Given the description of an element on the screen output the (x, y) to click on. 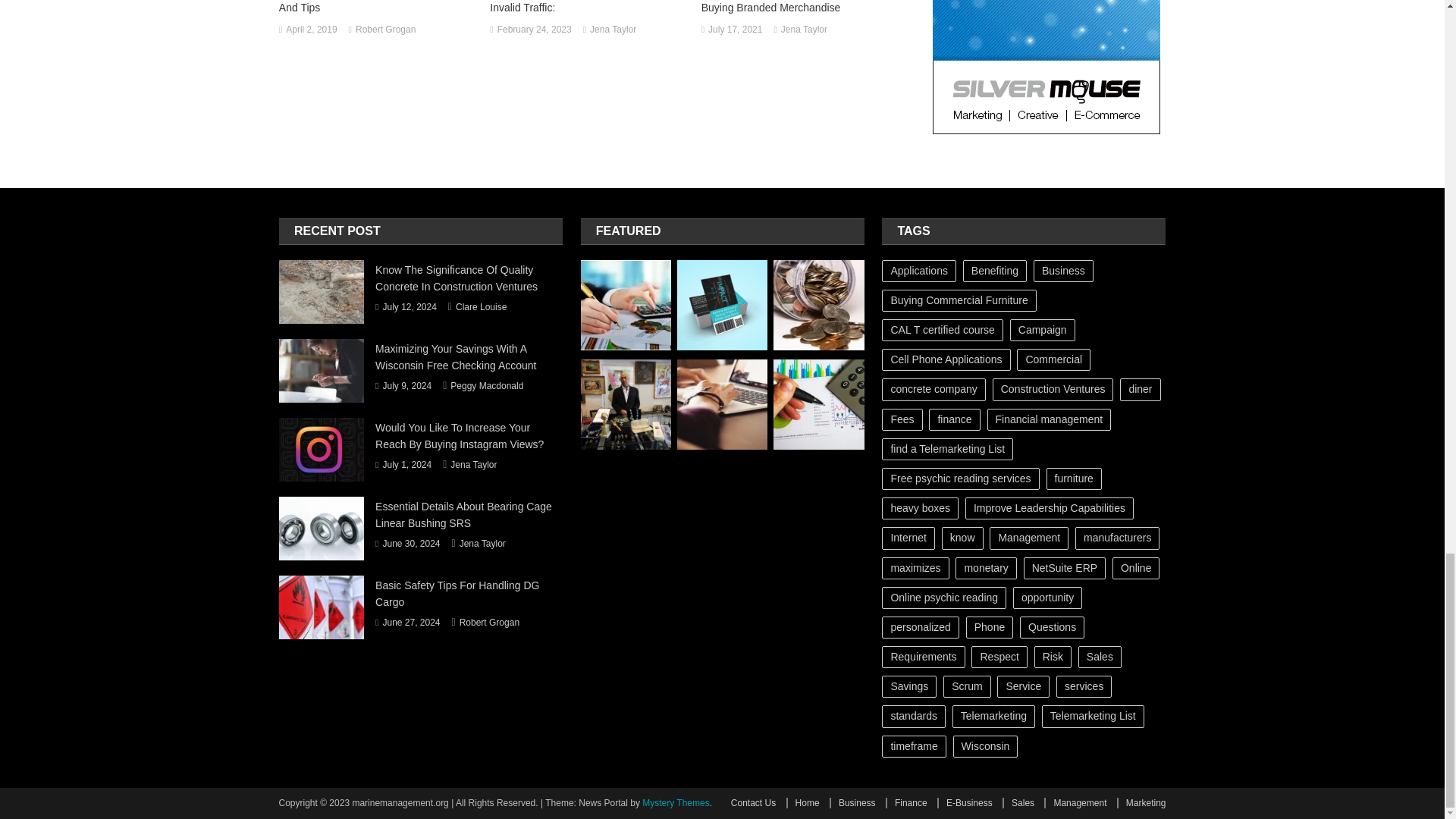
July 17, 2021 (734, 30)
February 24, 2023 (534, 30)
Robert Grogan (384, 30)
Jena Taylor (612, 30)
Jena Taylor (803, 30)
All You Need To Know About The Google Invalid Traffic: (588, 7)
April 2, 2019 (310, 30)
